Given the description of an element on the screen output the (x, y) to click on. 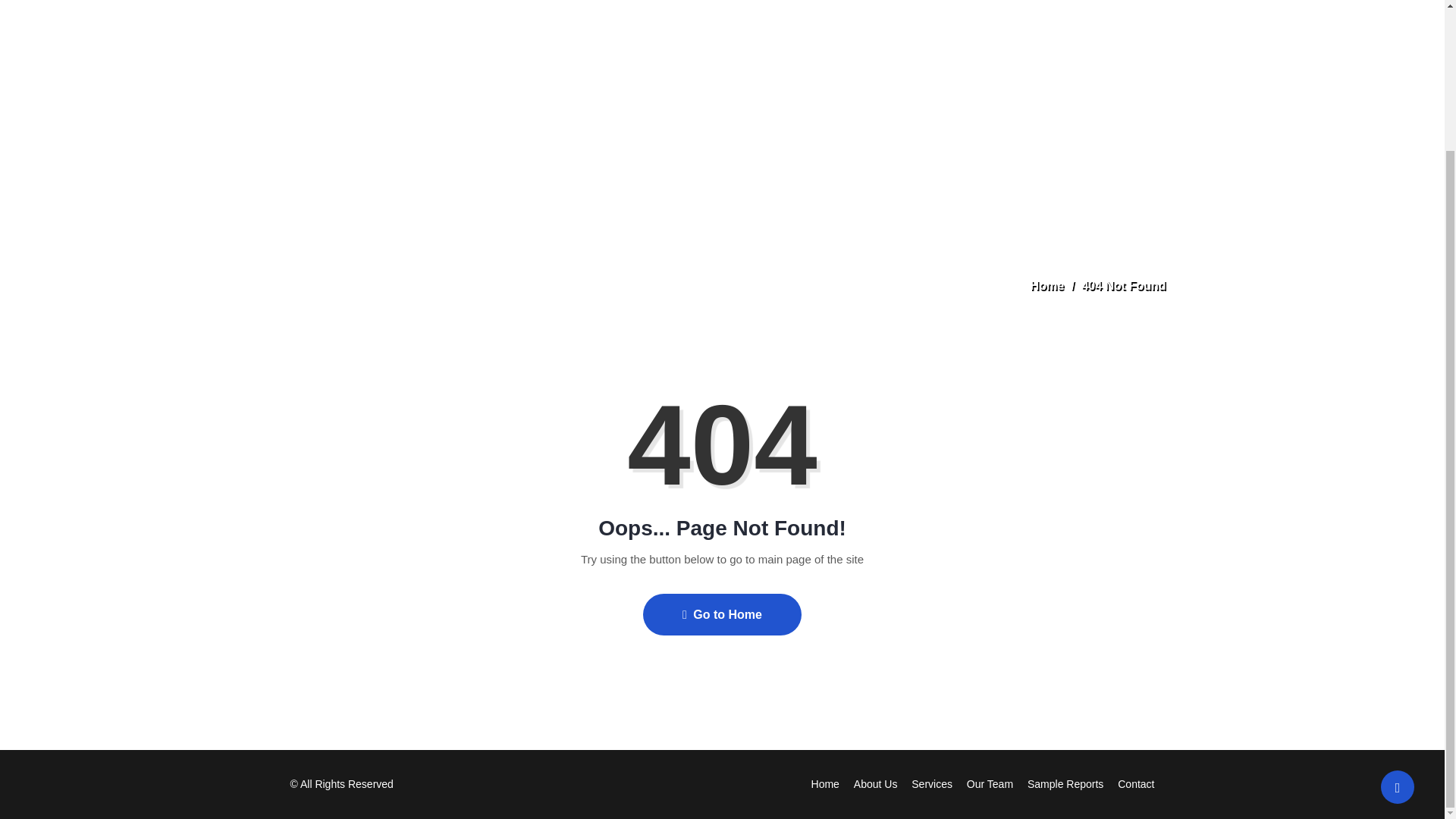
Home (825, 783)
Home (1047, 285)
Services (931, 783)
Sample Reports (1065, 783)
Back to Top (1396, 612)
About Us (875, 783)
  Go to Home (722, 614)
Contact (1136, 783)
Our Team (989, 783)
